Given the description of an element on the screen output the (x, y) to click on. 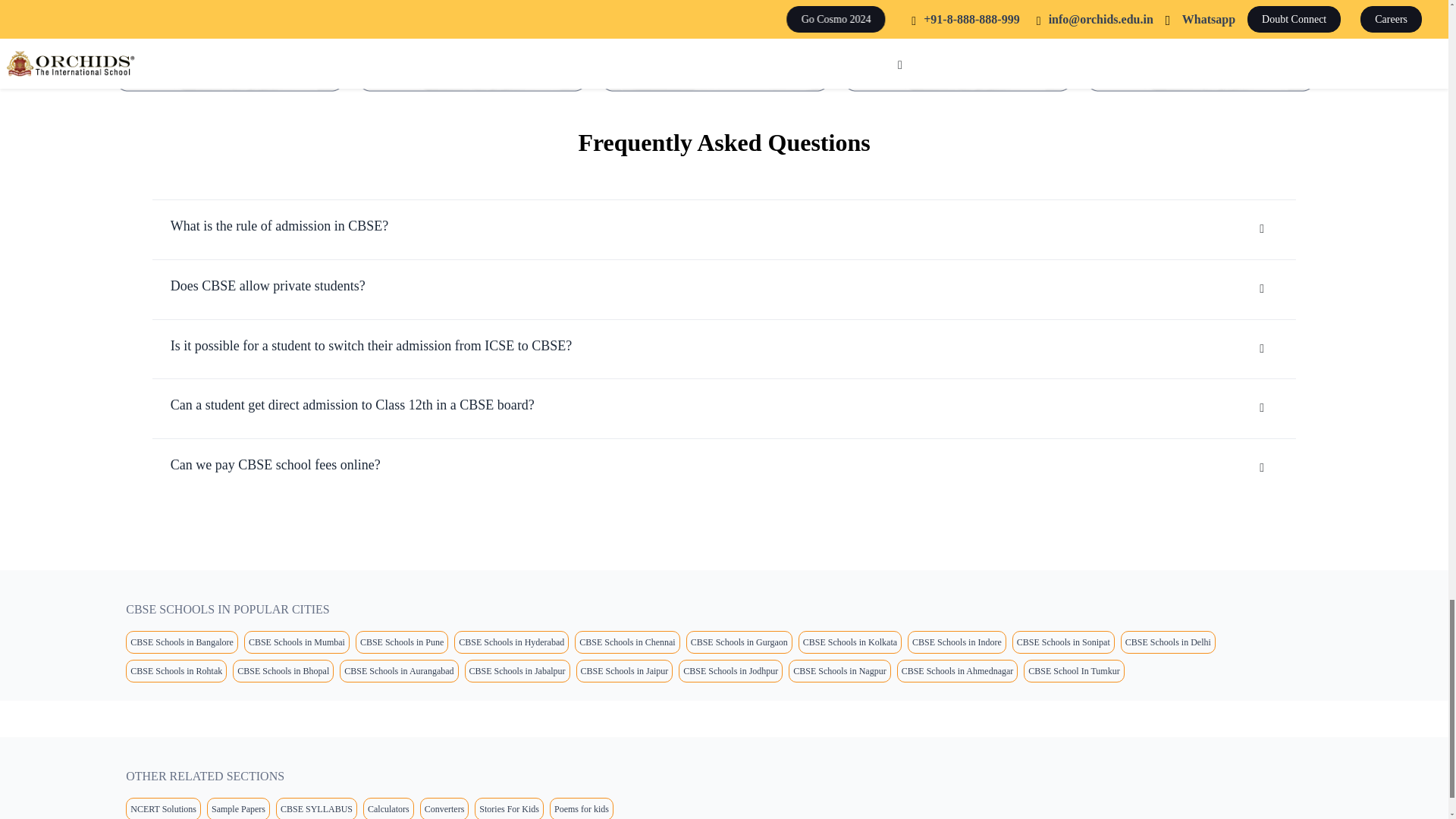
CBSE Schools in Hyderabad (511, 641)
CBSE Schools in Sonipat (1063, 641)
CBSE Schools in Mumbai (296, 641)
CBSE SYLLABUS (316, 808)
CBSE Schools in Indore (956, 641)
CBSE Schools in Bhopal (282, 671)
Sample Papers (237, 808)
CBSE Schools in Aurangabad (398, 671)
CBSE Schools in Jodhpur (730, 671)
CBSE Schools in Jabalpur (517, 671)
